Given the description of an element on the screen output the (x, y) to click on. 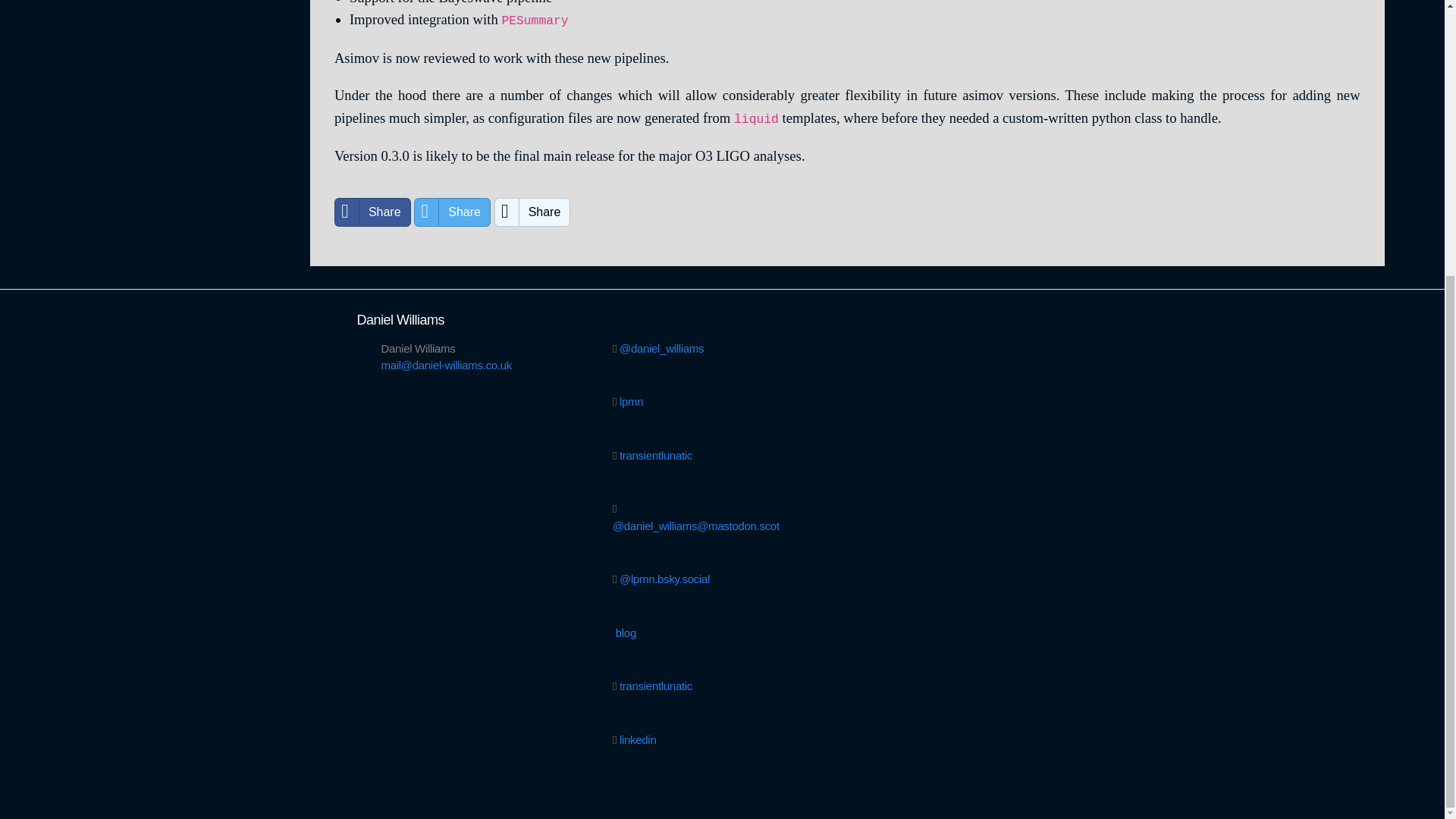
Share on Facebook (372, 212)
Share (451, 212)
transientlunatic (656, 685)
lpmn (631, 400)
Share on Reddit (532, 212)
Share (372, 212)
Share on Twitter (451, 212)
blog (625, 632)
Share (532, 212)
transientlunatic (656, 454)
